Given the description of an element on the screen output the (x, y) to click on. 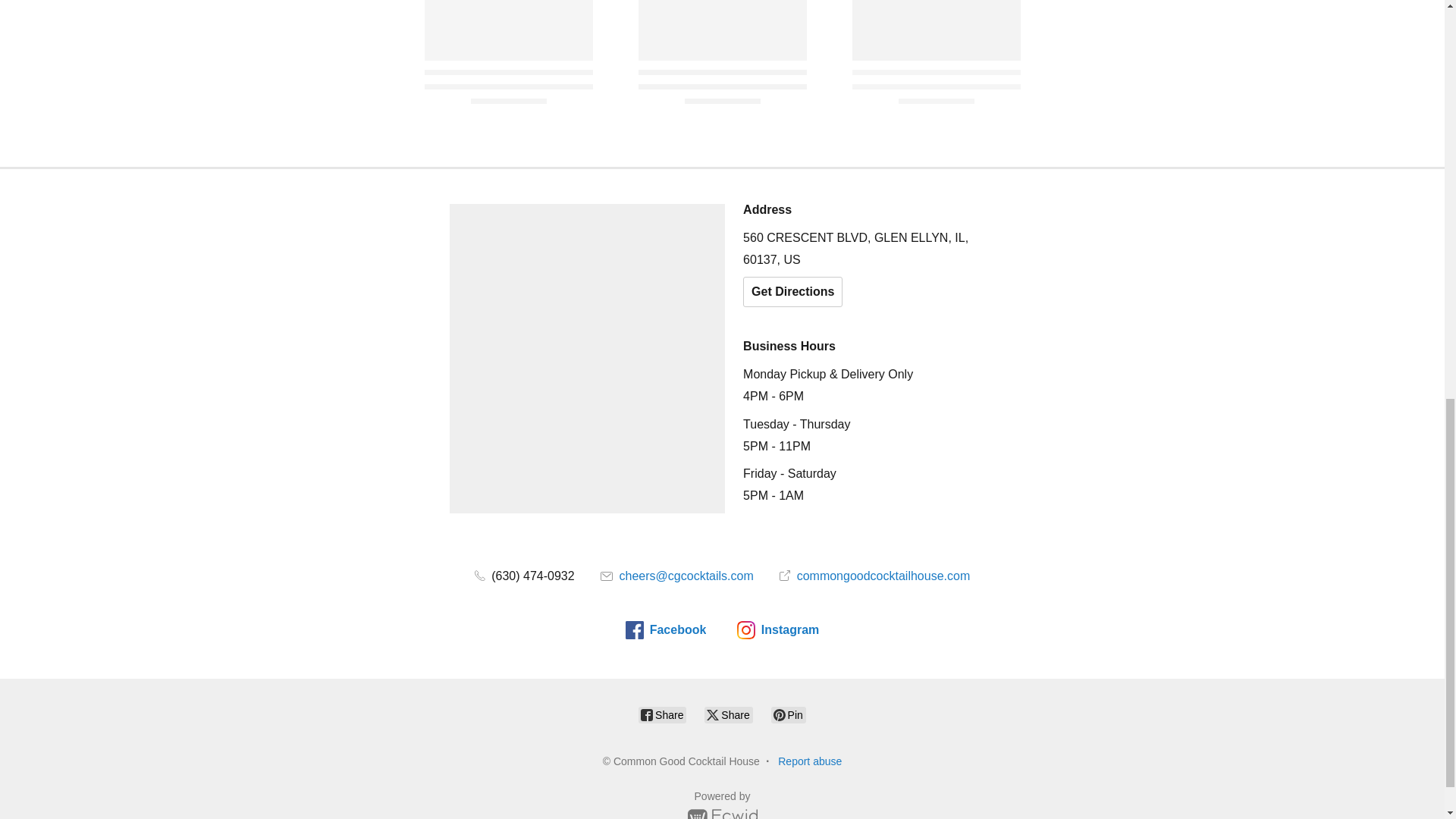
Powered by (722, 804)
commongoodcocktailhouse.com (873, 575)
Report abuse (809, 761)
Get Directions (792, 291)
Instagram (777, 629)
Pin (788, 714)
Location on map (586, 358)
Facebook (666, 629)
Share (728, 714)
Share (662, 714)
